Given the description of an element on the screen output the (x, y) to click on. 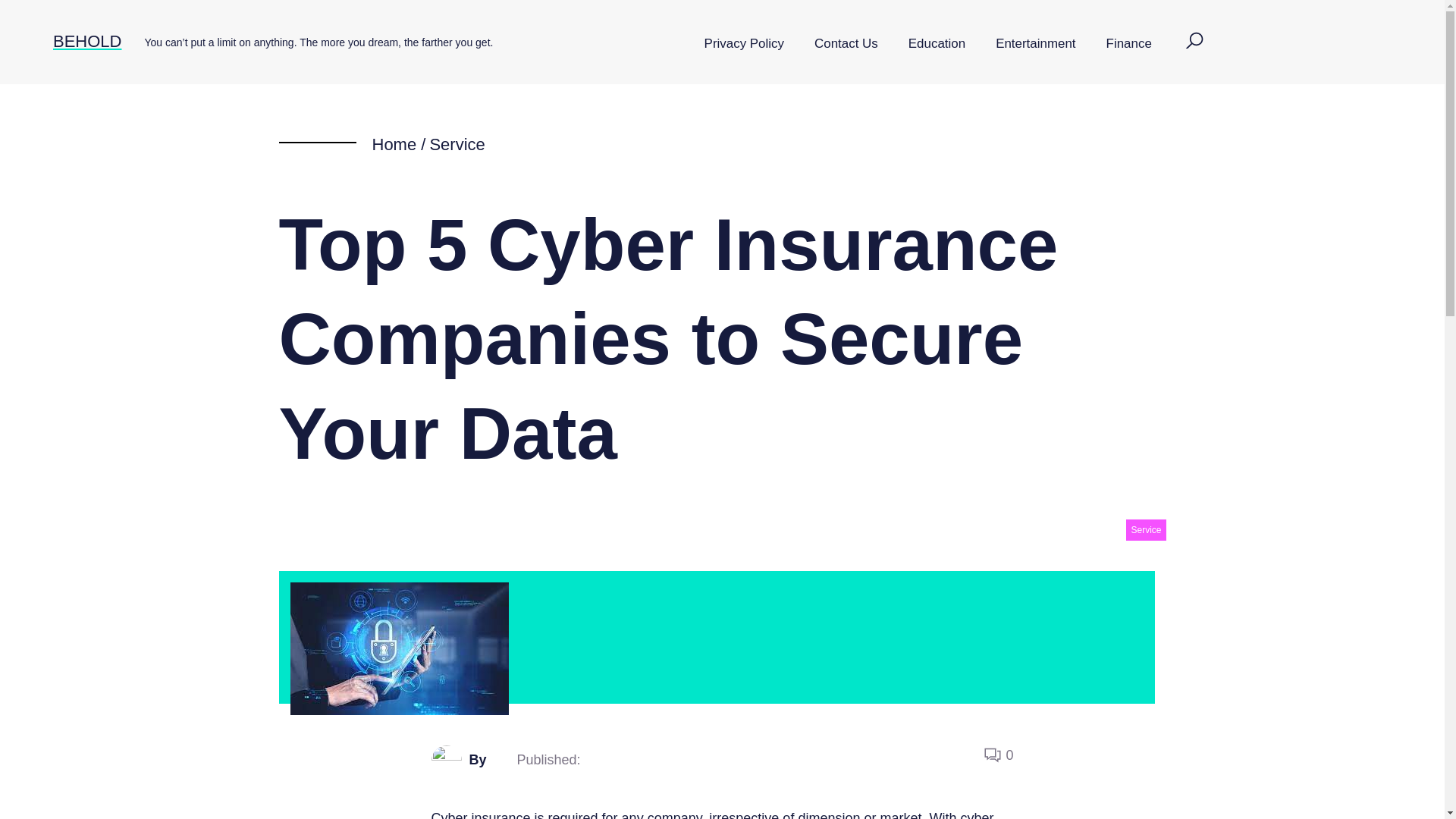
BEHOLD (86, 40)
Entertainment (1034, 43)
Contact Us (846, 43)
Finance (1128, 43)
Service (1145, 529)
Home (393, 144)
Service (456, 144)
Education (936, 43)
Privacy Policy (743, 43)
